Given the description of an element on the screen output the (x, y) to click on. 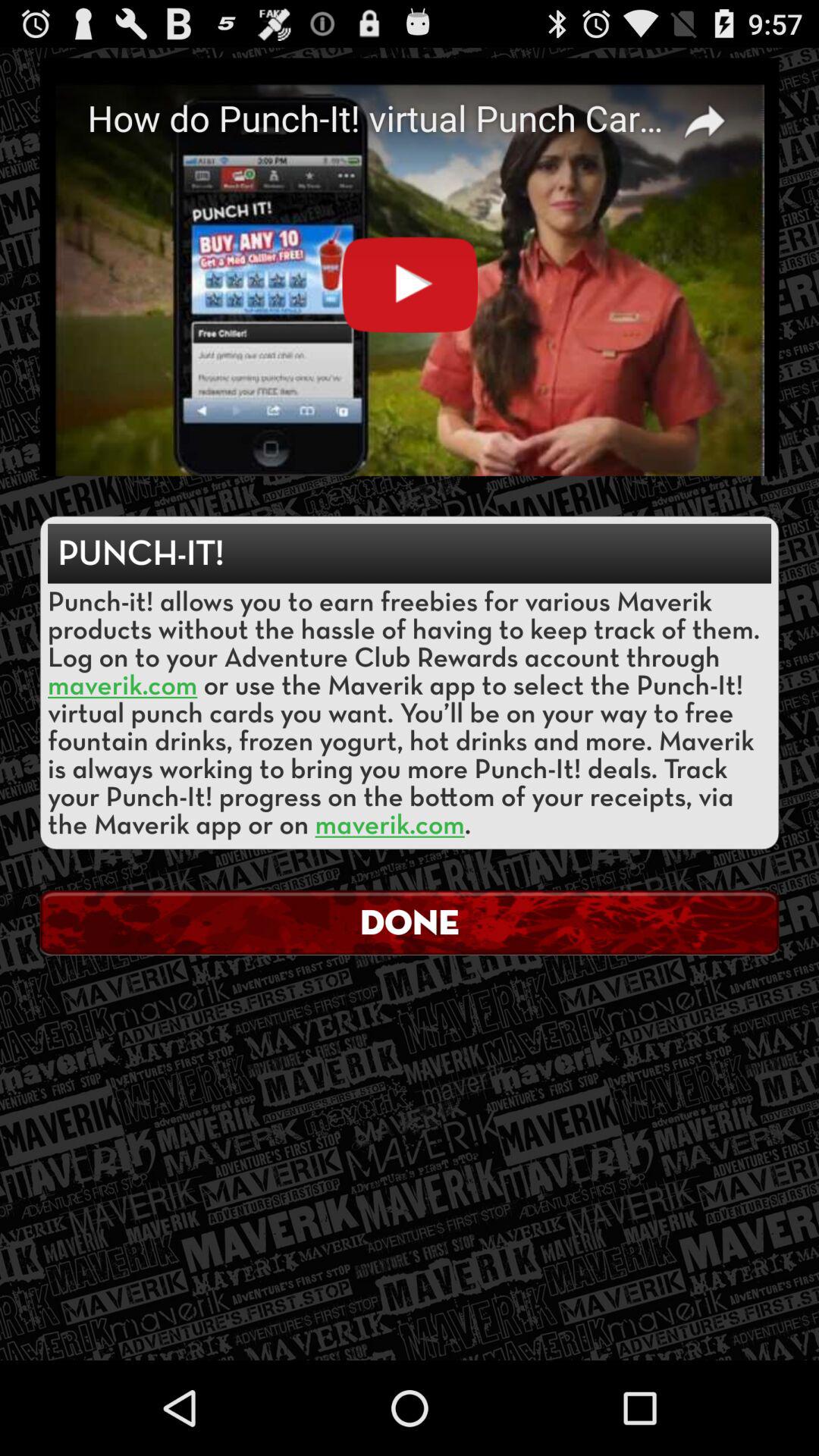
turn off icon at the top (409, 267)
